Given the description of an element on the screen output the (x, y) to click on. 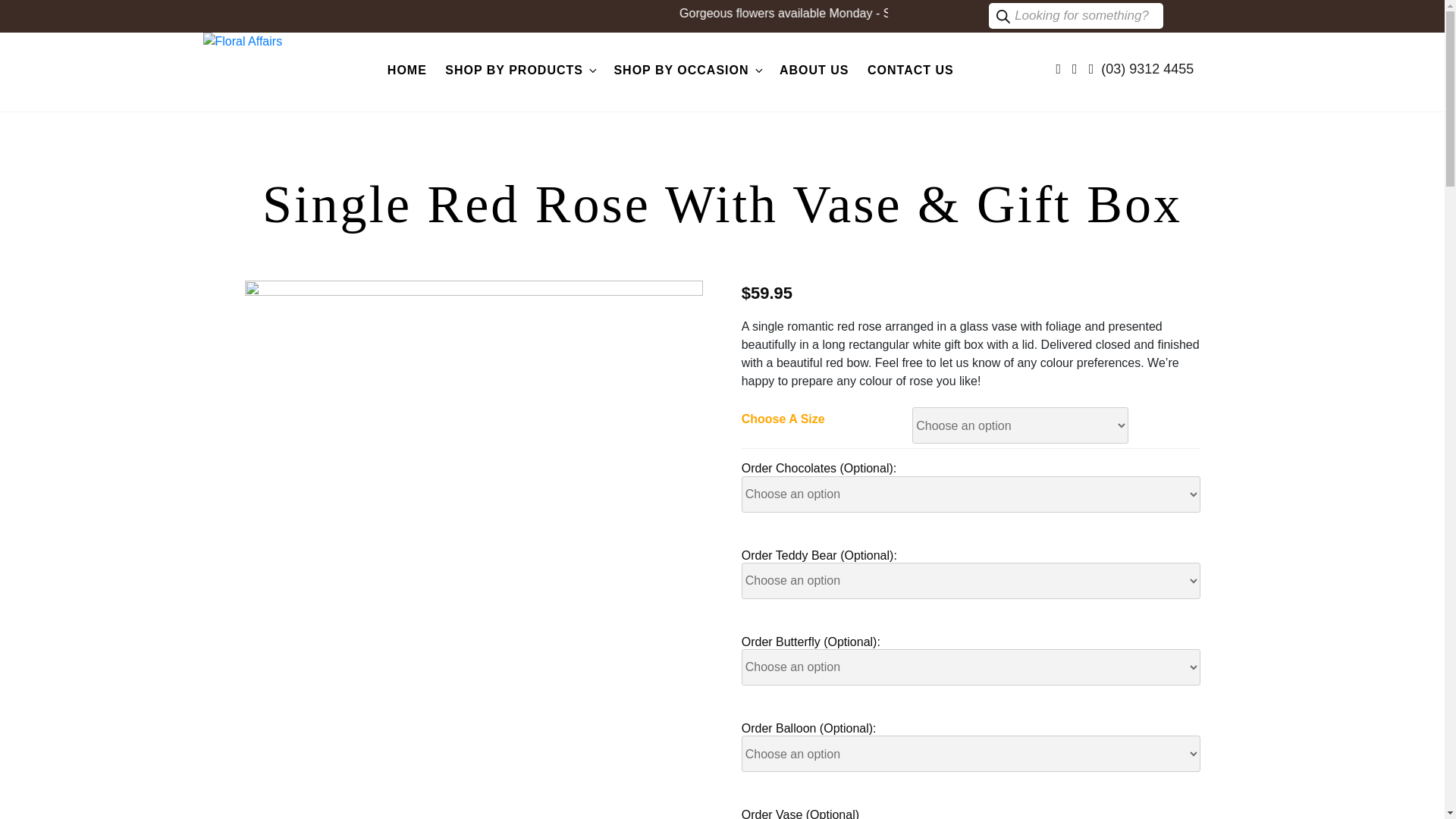
SHOP BY OCCASION (686, 70)
SHOP BY PRODUCTS (520, 70)
HOME (406, 70)
CONTACT US (910, 70)
ABOUT US (814, 70)
